Given the description of an element on the screen output the (x, y) to click on. 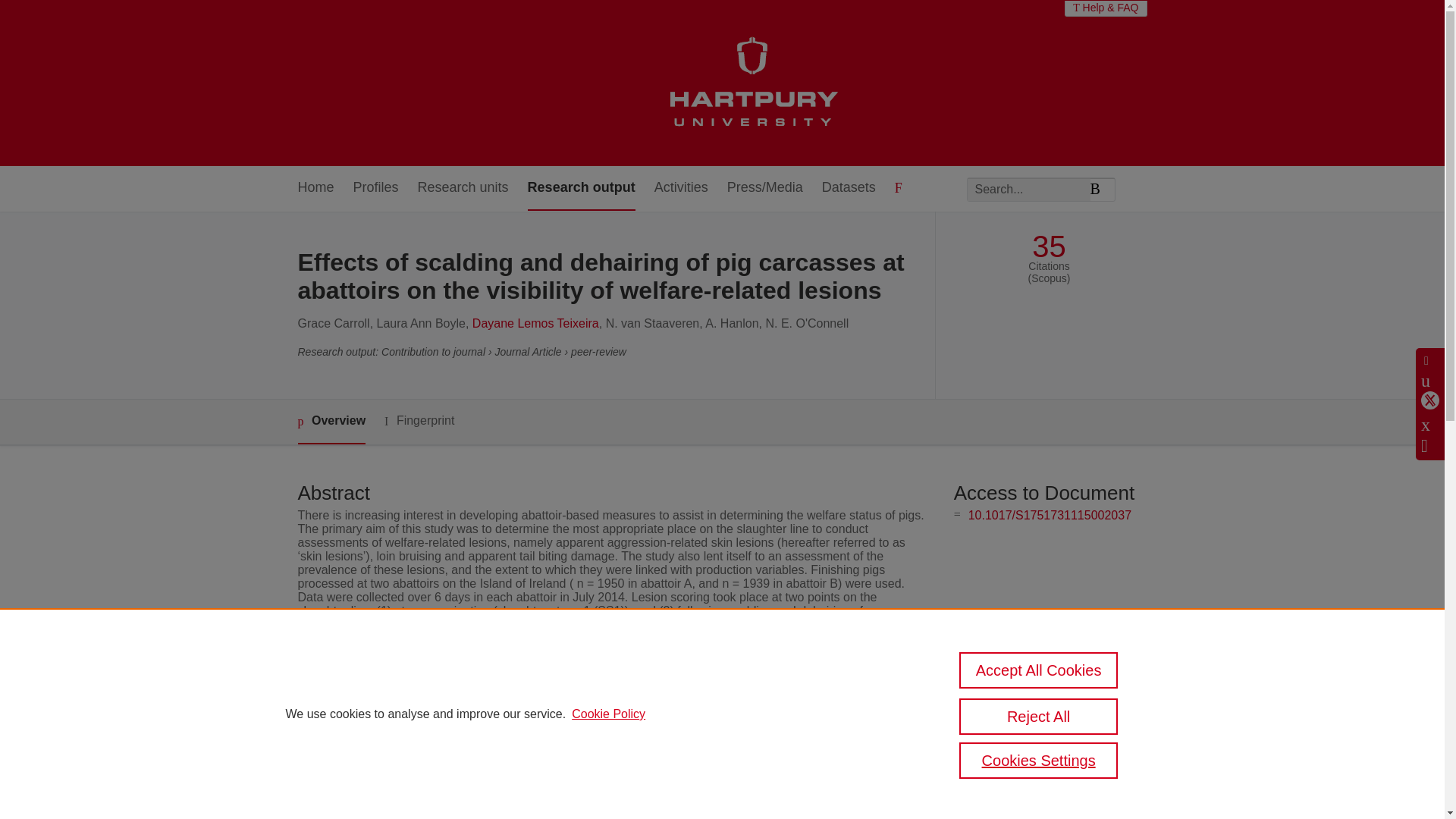
35 (1048, 246)
Hartpury University Home (752, 82)
Dayane Lemos Teixeira (534, 323)
Profiles (375, 188)
Datasets (849, 188)
Activities (680, 188)
Overview (331, 421)
Research units (462, 188)
Fingerprint (419, 421)
